Given the description of an element on the screen output the (x, y) to click on. 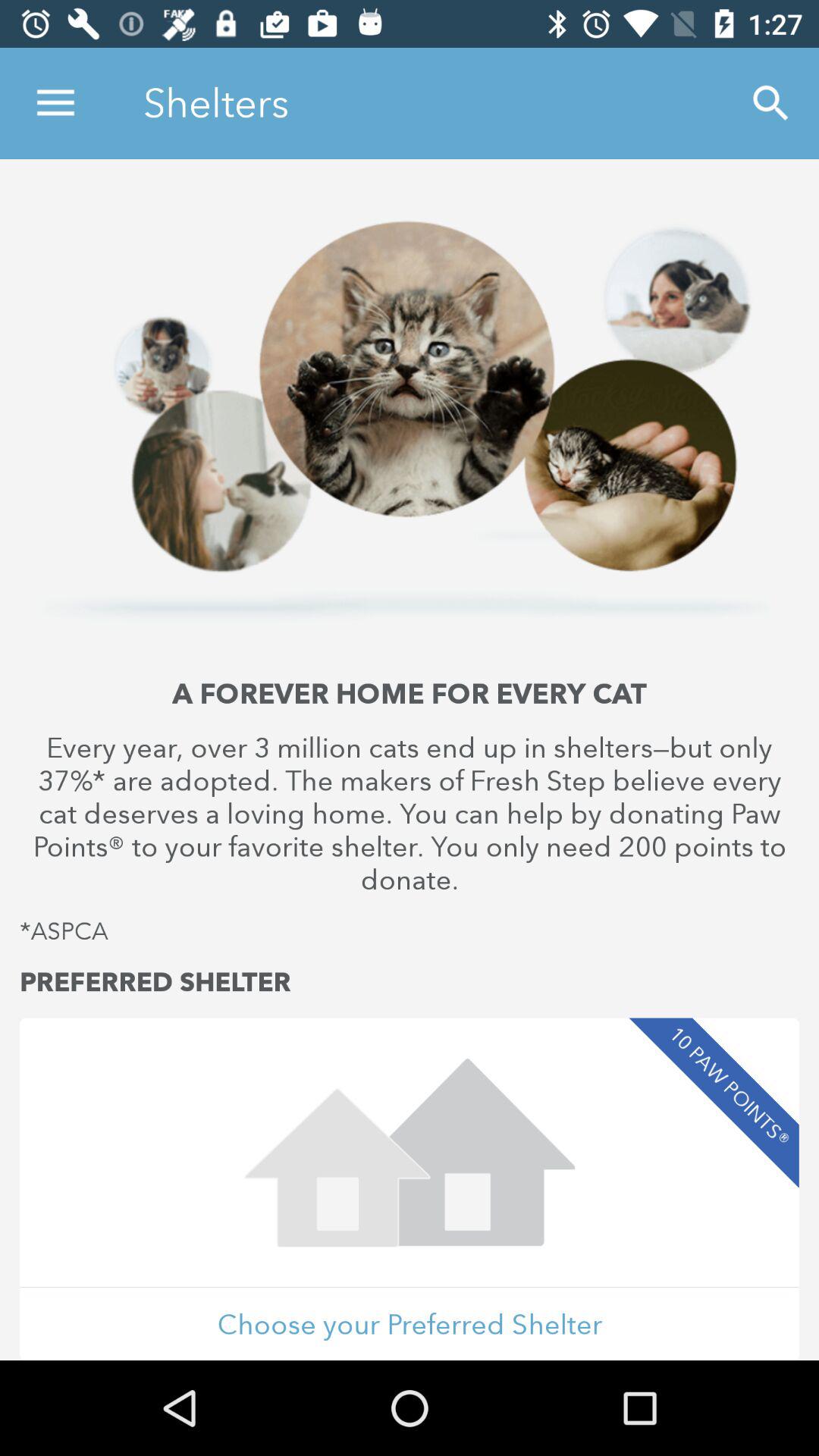
press the icon at the top right corner (771, 103)
